Given the description of an element on the screen output the (x, y) to click on. 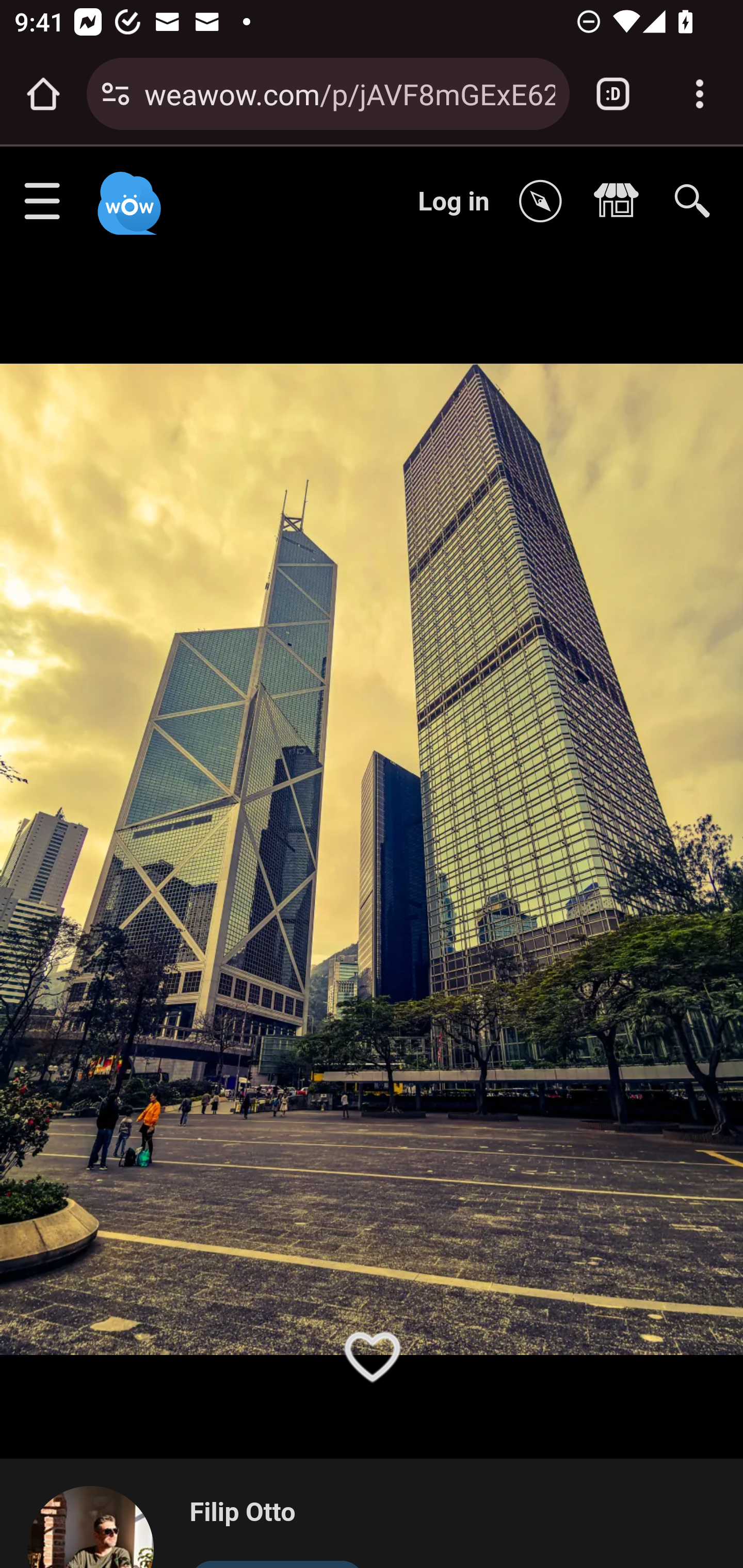
Open the home page (43, 93)
Connection is secure (115, 93)
Switch or close tabs (612, 93)
Customize and control Google Chrome (699, 93)
weawow.com/p/jAVF8mGExE62365 (349, 92)
Weawow (127, 194)
 (545, 201)
 (621, 201)
Log in (453, 201)
Filip%20Otto (99, 1525)
Filip Otto (275, 1513)
